Given the description of an element on the screen output the (x, y) to click on. 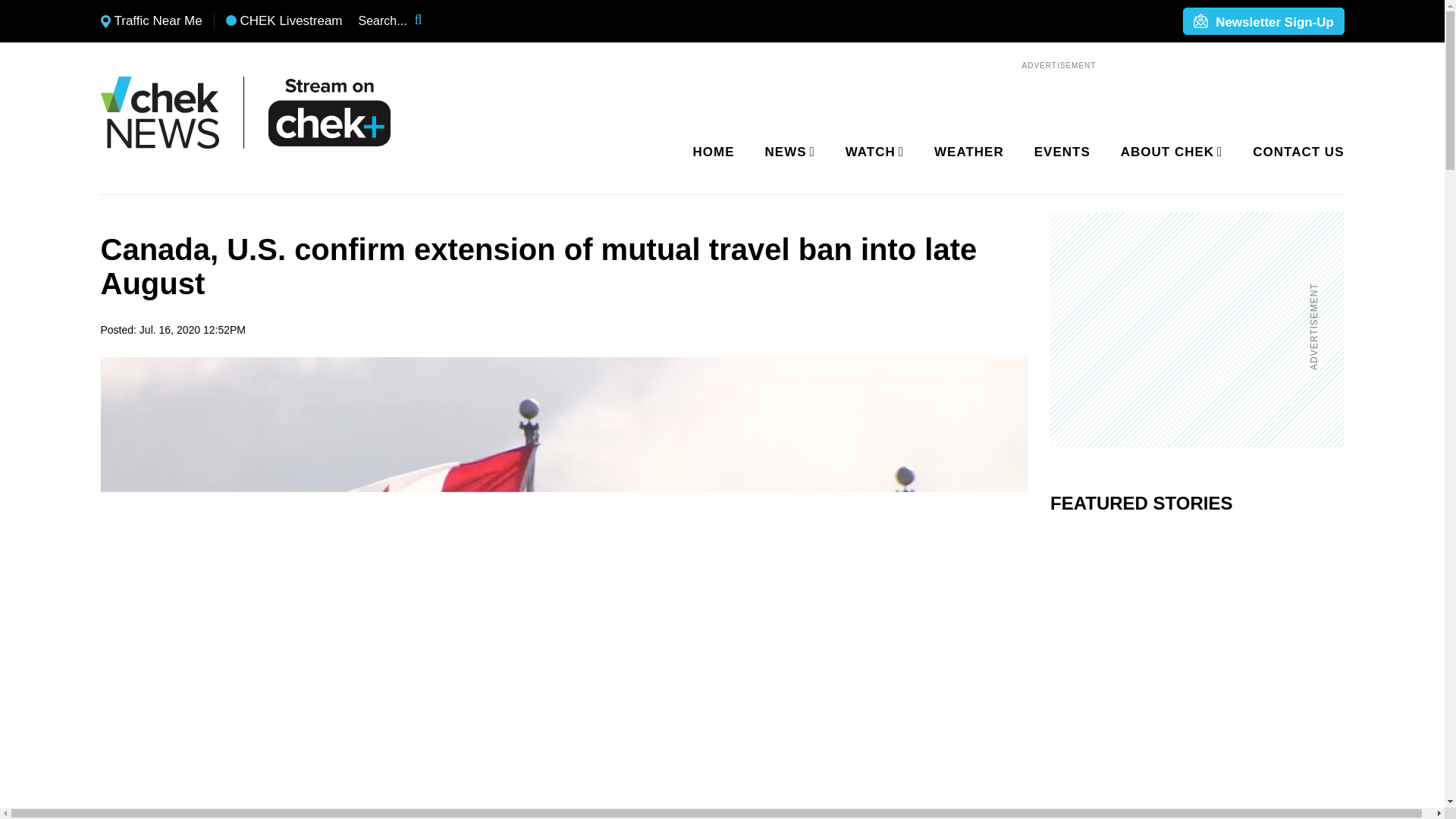
Search (428, 21)
NEWS (787, 152)
Newsletter Sign-Up (1262, 22)
HOME (714, 152)
Traffic Near Me (151, 20)
CHEK Livestream (283, 20)
